Given the description of an element on the screen output the (x, y) to click on. 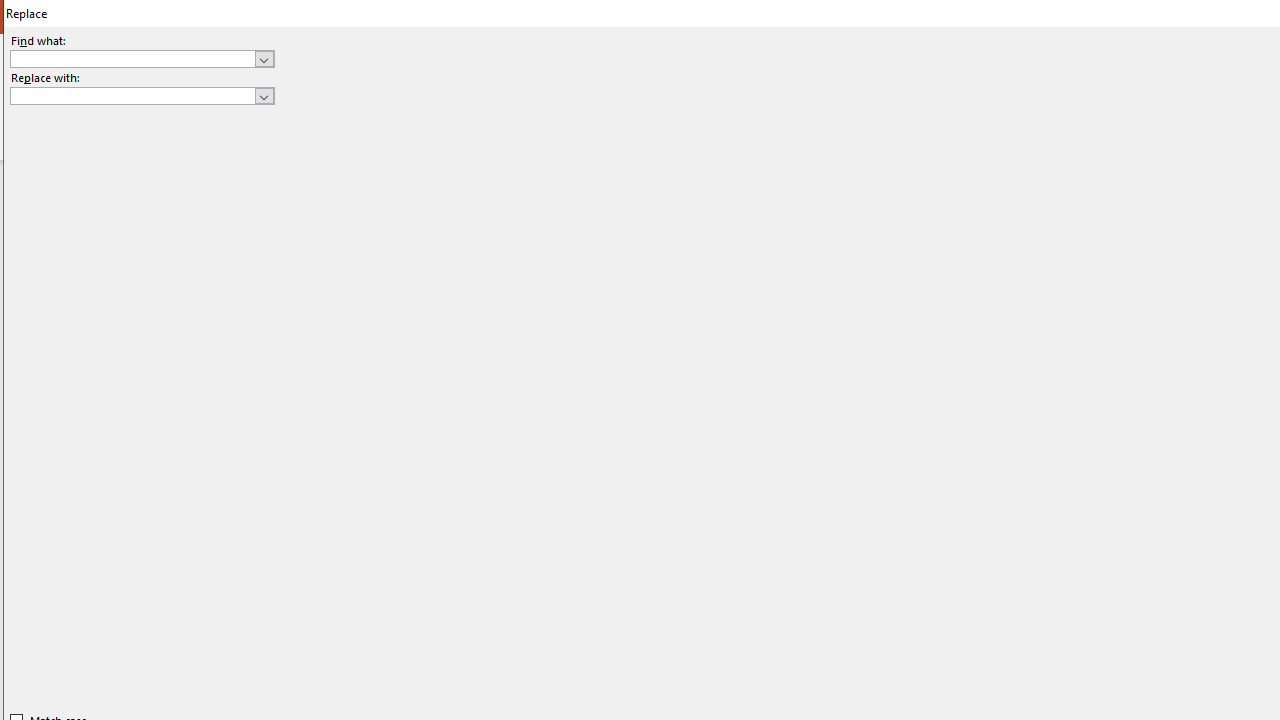
Replace with (142, 96)
Replace with (132, 95)
Find what (142, 58)
Find what (132, 58)
